Given the description of an element on the screen output the (x, y) to click on. 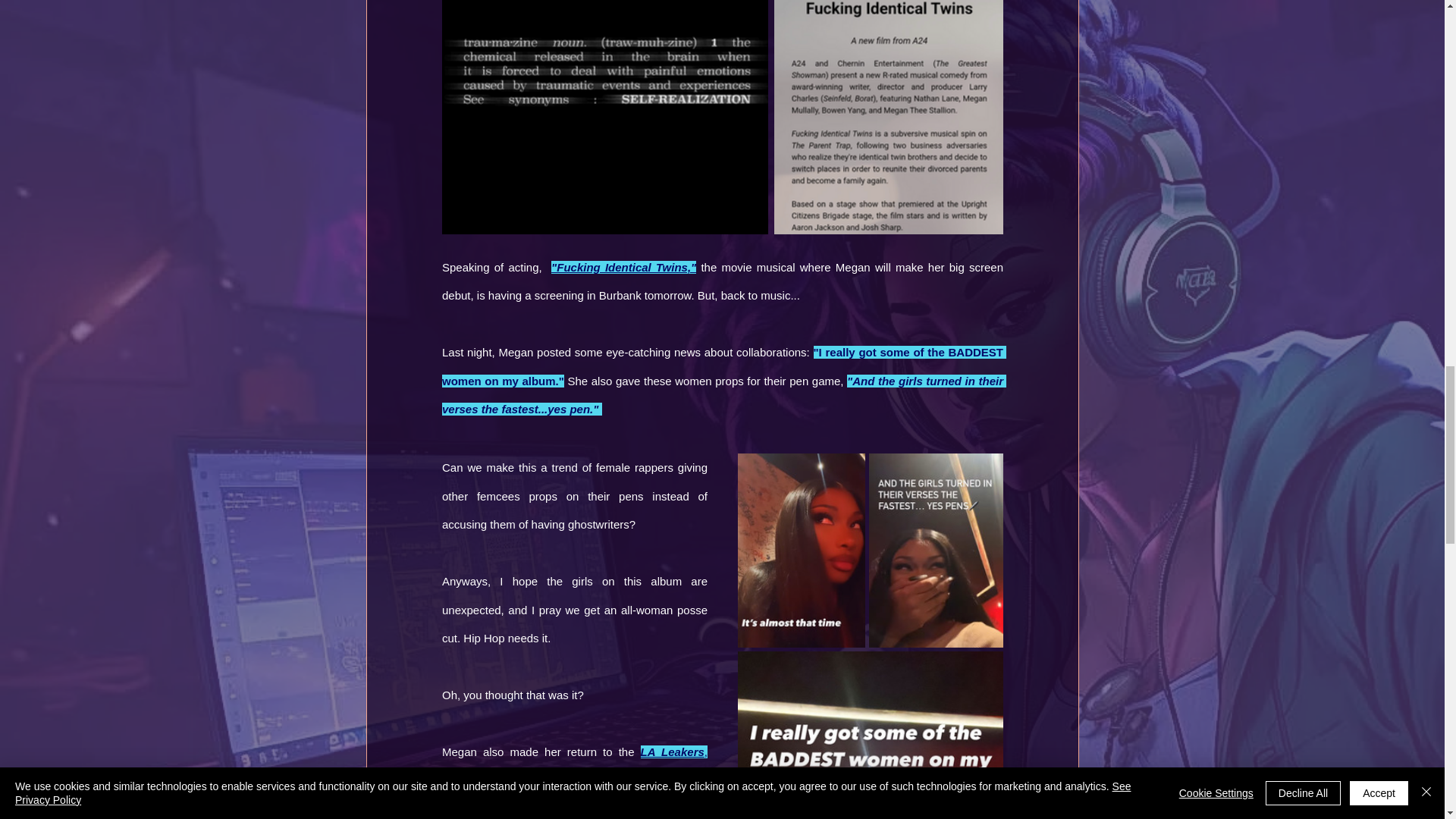
viral freestyles  (575, 794)
LA Leakers (671, 751)
"Fucking Identical Twins," (623, 267)
